Given the description of an element on the screen output the (x, y) to click on. 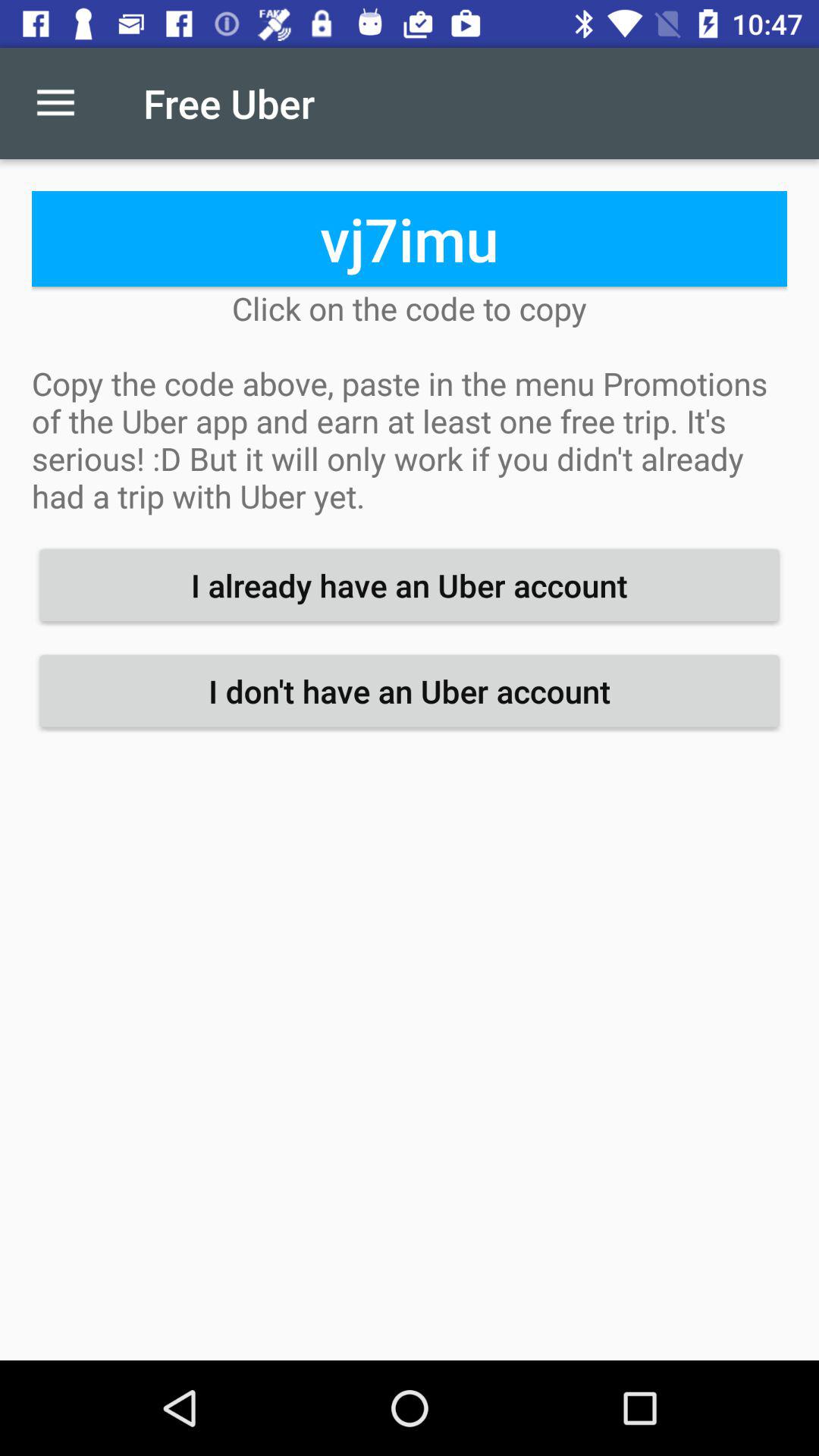
swipe until i don t item (409, 690)
